Given the description of an element on the screen output the (x, y) to click on. 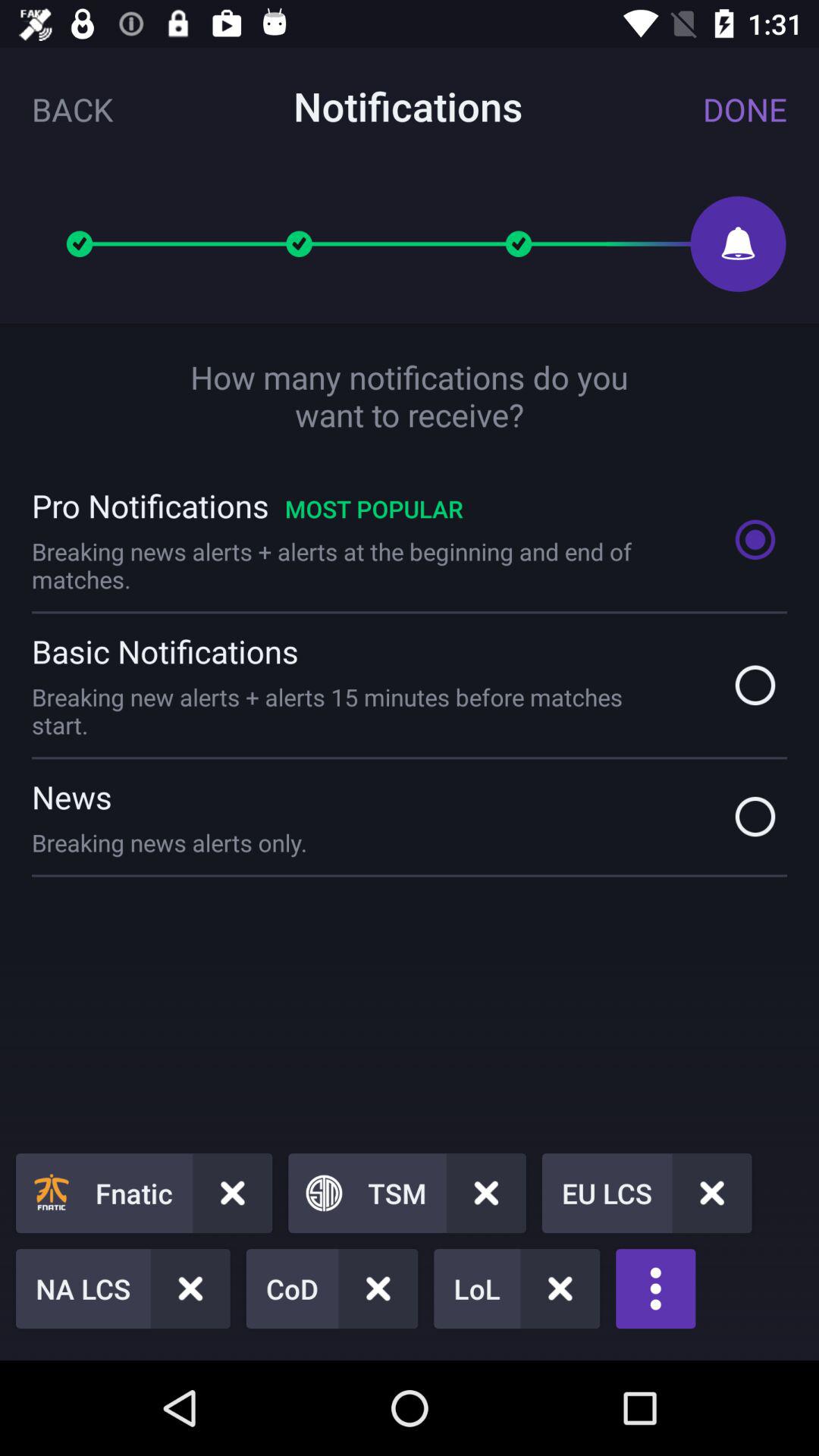
press the back icon (72, 108)
